Given the description of an element on the screen output the (x, y) to click on. 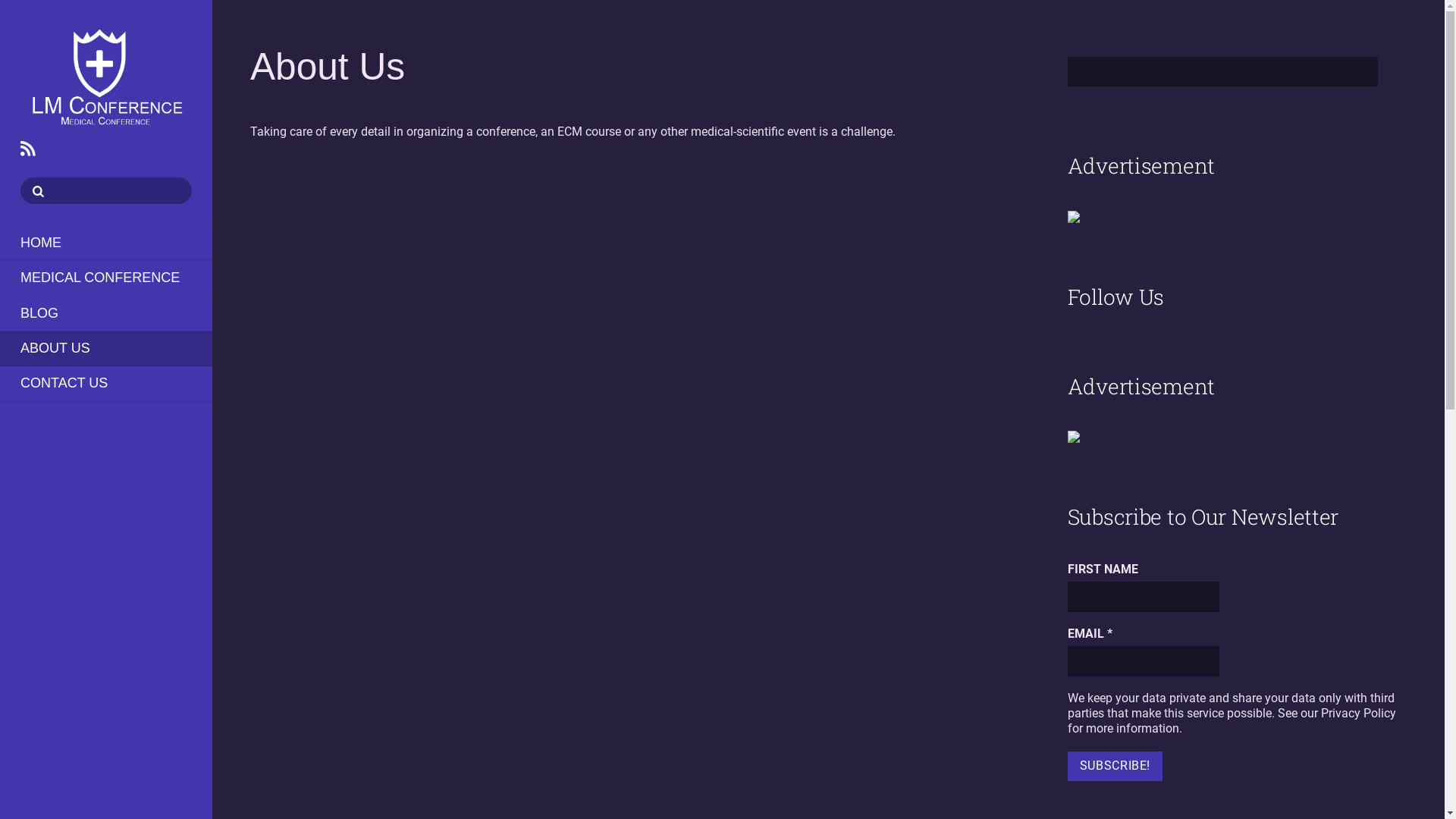
Search Element type: hover (1222, 71)
MEDICAL CONFERENCE Element type: text (106, 277)
Email Element type: hover (1143, 661)
LM Conference Element type: hover (105, 78)
HOME Element type: text (106, 242)
First name Element type: hover (1143, 596)
Subscribe! Element type: text (1114, 766)
CONTACT US Element type: text (106, 383)
Search Element type: hover (105, 190)
LM Conference Element type: hover (105, 122)
ABOUT US Element type: text (106, 348)
BLOG Element type: text (106, 313)
